Given the description of an element on the screen output the (x, y) to click on. 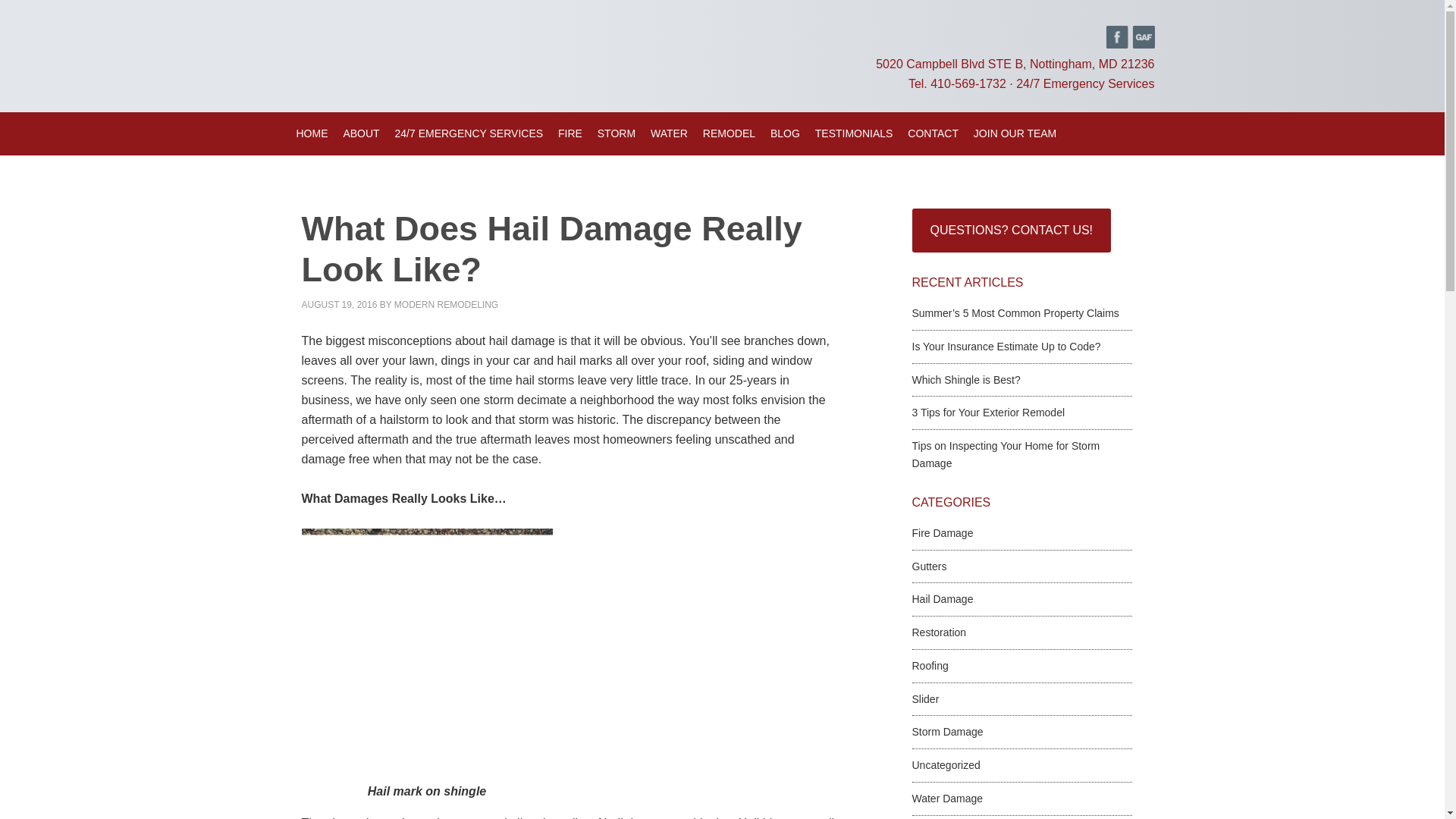
QUESTIONS? CONTACT US! (1010, 230)
Hail Damage (941, 598)
Tips on Inspecting Your Home for Storm Damage (1005, 454)
STORM (616, 133)
Gutters (928, 566)
Which Shingle is Best? (965, 379)
REMODEL (729, 133)
JOIN OUR TEAM (1015, 133)
3 Tips for Your Exterior Remodel (987, 412)
Restoration (938, 632)
